Given the description of an element on the screen output the (x, y) to click on. 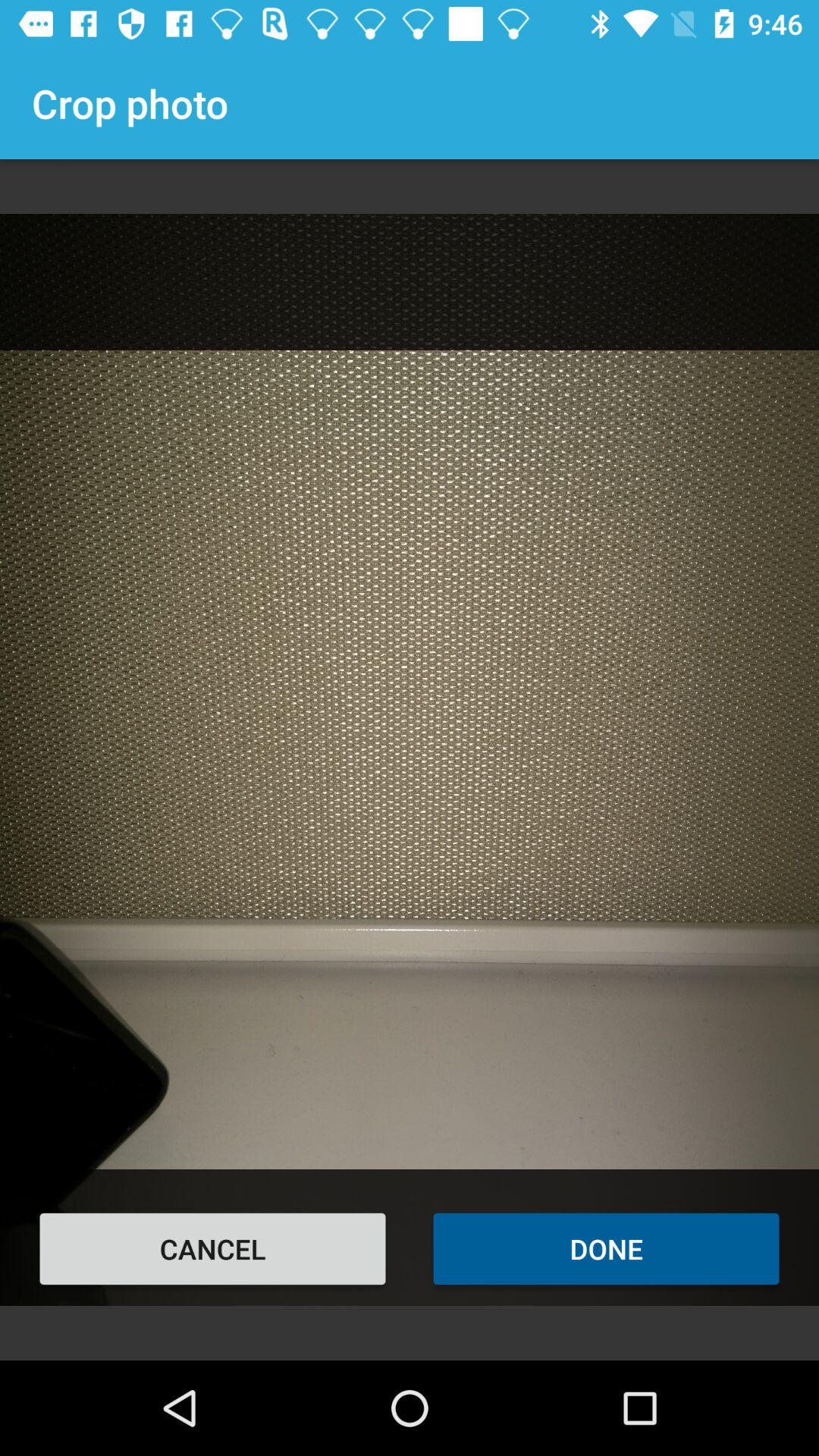
turn off cancel icon (212, 1248)
